Given the description of an element on the screen output the (x, y) to click on. 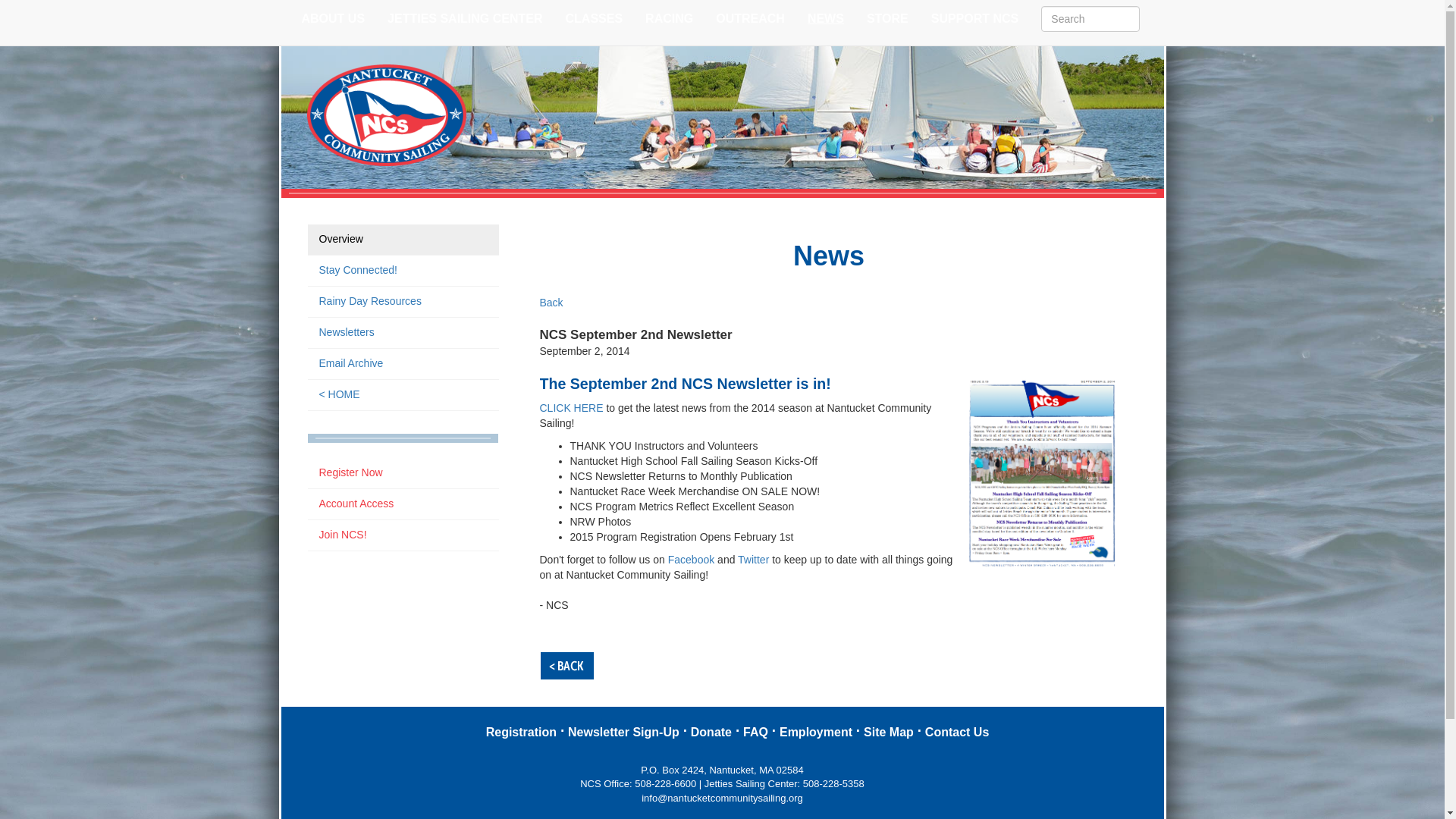
NEWS (826, 18)
Facebook (1136, 41)
OUTREACH (750, 18)
STORE (888, 18)
ABOUT US (332, 18)
JETTIES SAILING CENTER (464, 18)
Instagram (1148, 41)
YouTube (1160, 41)
RACING (668, 18)
CLASSES (594, 18)
